Given the description of an element on the screen output the (x, y) to click on. 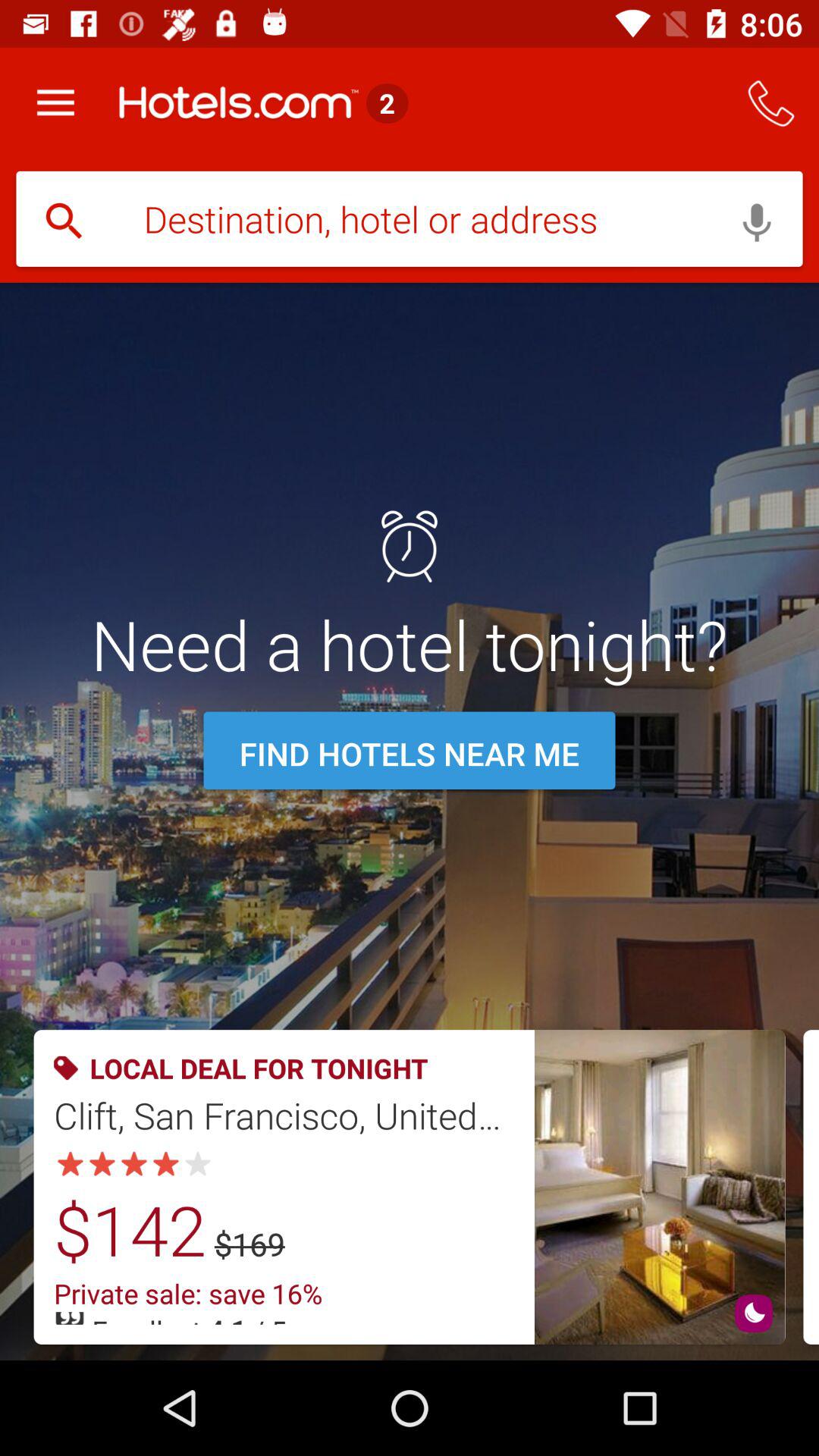
press destination hotel or item (409, 220)
